Given the description of an element on the screen output the (x, y) to click on. 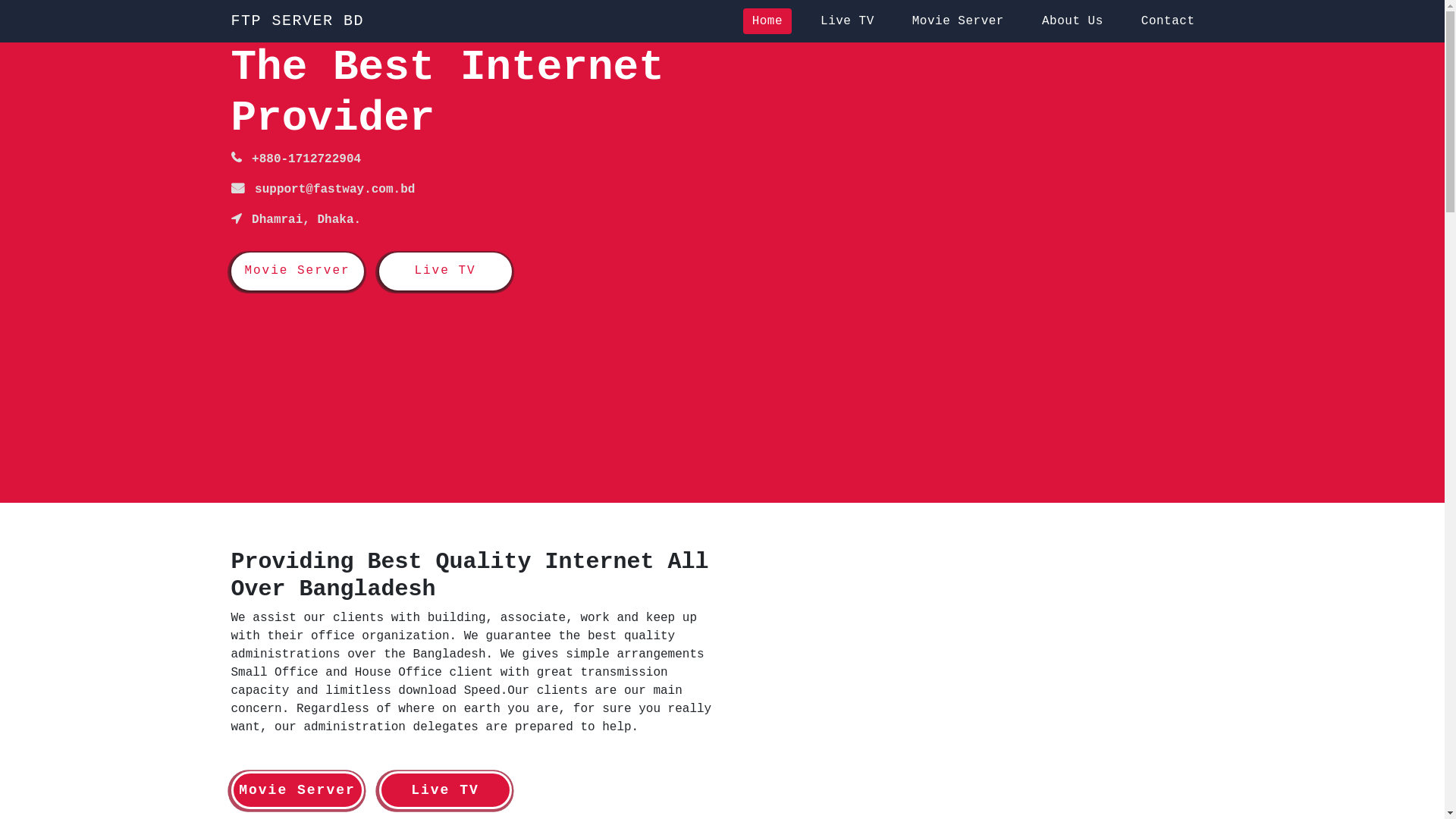
Movie Server Element type: text (296, 790)
Movie Server Element type: text (958, 21)
Movie Server Element type: text (296, 271)
About Us Element type: text (1072, 21)
FTP SERVER BD Element type: text (297, 21)
Contact Element type: text (1168, 21)
Live TV Element type: text (445, 790)
Live TV Element type: text (445, 271)
Home Element type: text (767, 21)
Advertisement Element type: hover (471, 396)
Live TV Element type: text (847, 21)
